Given the description of an element on the screen output the (x, y) to click on. 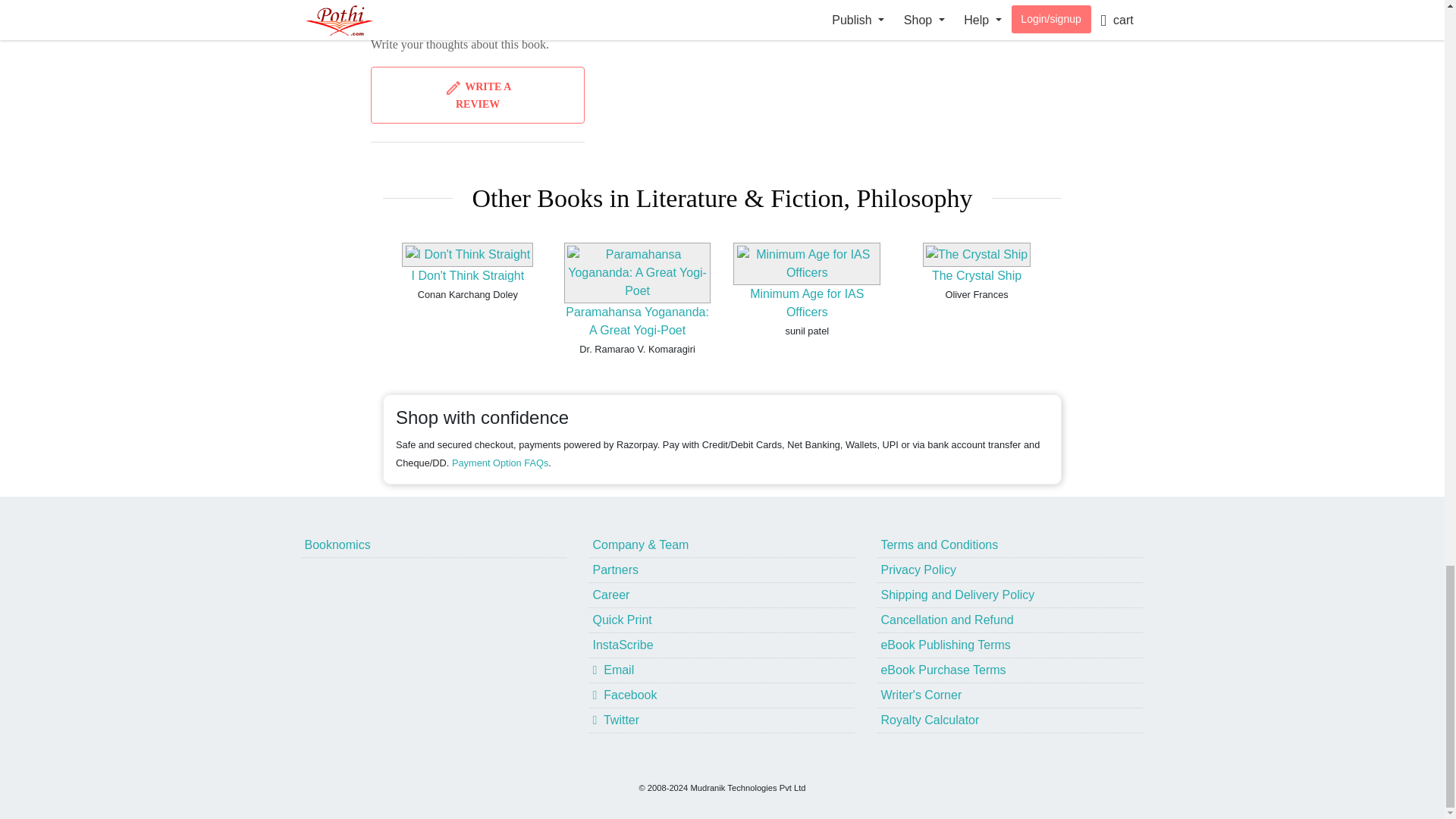
I Don't Think Straight (468, 275)
Paramahansa Yogananda: A Great Yogi-Poet (637, 320)
Minimum Age for IAS Officers (806, 302)
WRITE A REVIEW (478, 94)
I Don't Think Straight (468, 275)
The Crystal Ship (976, 275)
